Given the description of an element on the screen output the (x, y) to click on. 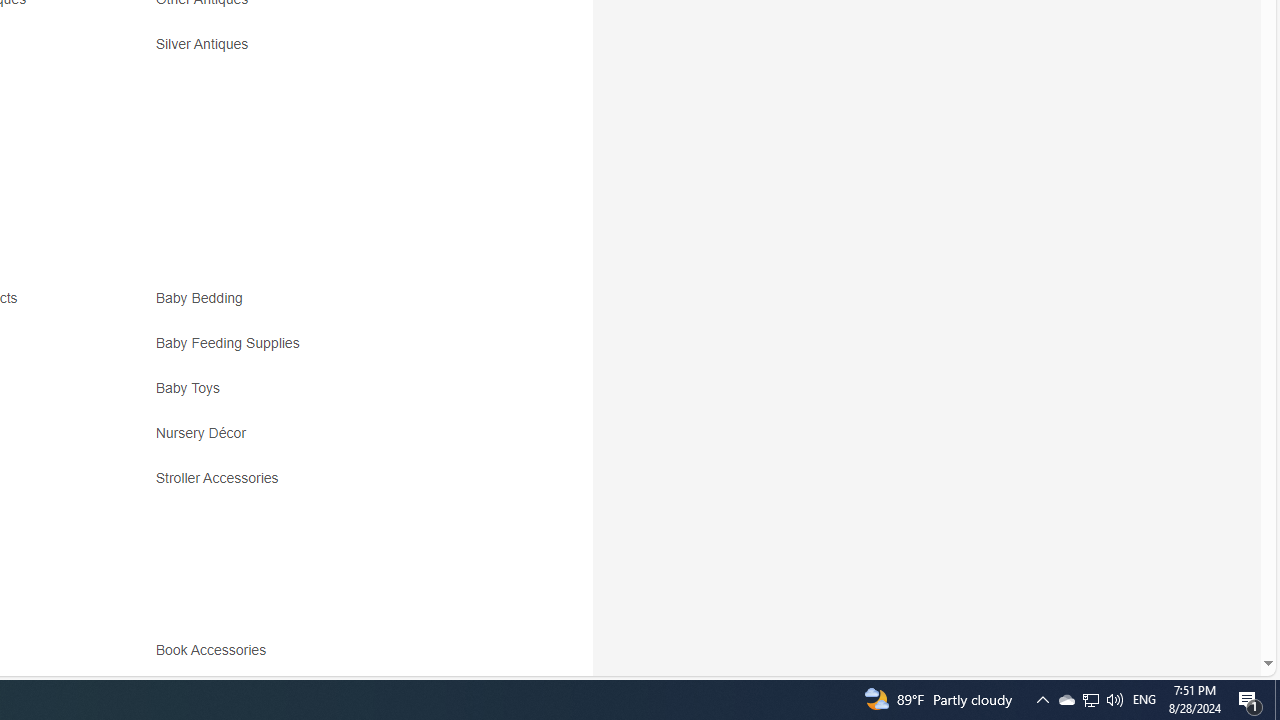
Silver Antiques (206, 43)
Baby Feeding Supplies (231, 343)
Baby Bedding (332, 305)
Baby Toys (332, 395)
Silver Antiques (332, 51)
Book Accessories (215, 650)
Stroller Accessories (221, 478)
Baby Feeding Supplies (332, 349)
Baby Toys (192, 388)
Stroller Accessories (332, 485)
Book Accessories (332, 657)
Baby Bedding (203, 298)
